Given the description of an element on the screen output the (x, y) to click on. 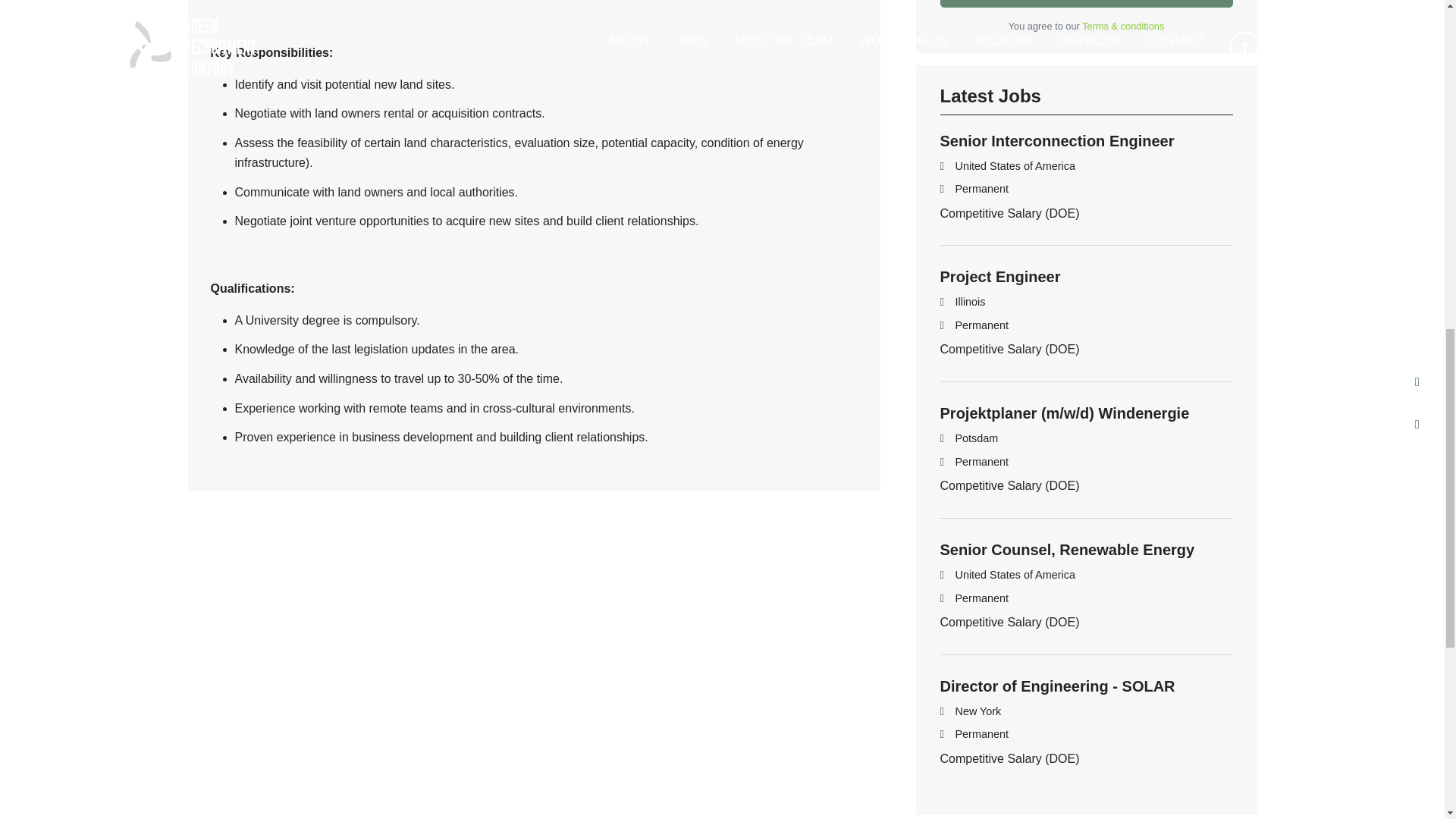
Create alert (1086, 3)
Senior Interconnection Engineer (1057, 140)
